Given the description of an element on the screen output the (x, y) to click on. 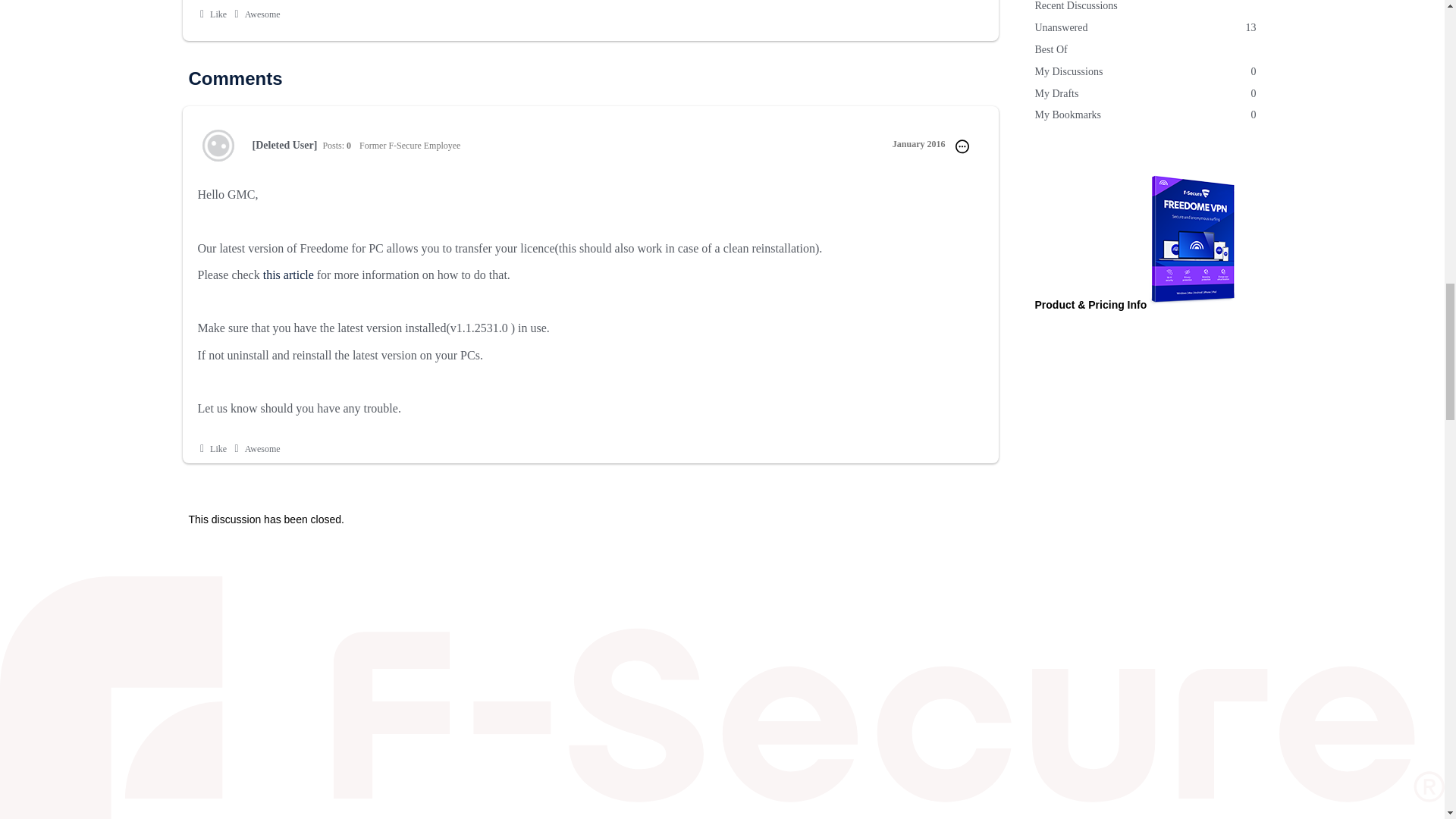
Like (211, 14)
Like (1144, 72)
Awesome (211, 14)
Awesome (255, 448)
January 2016 (1144, 94)
Like (255, 448)
Awesome (918, 143)
this article (211, 448)
Recent Discussions (255, 14)
Former F-Secure Employee (288, 274)
Best Of (1144, 28)
